Given the description of an element on the screen output the (x, y) to click on. 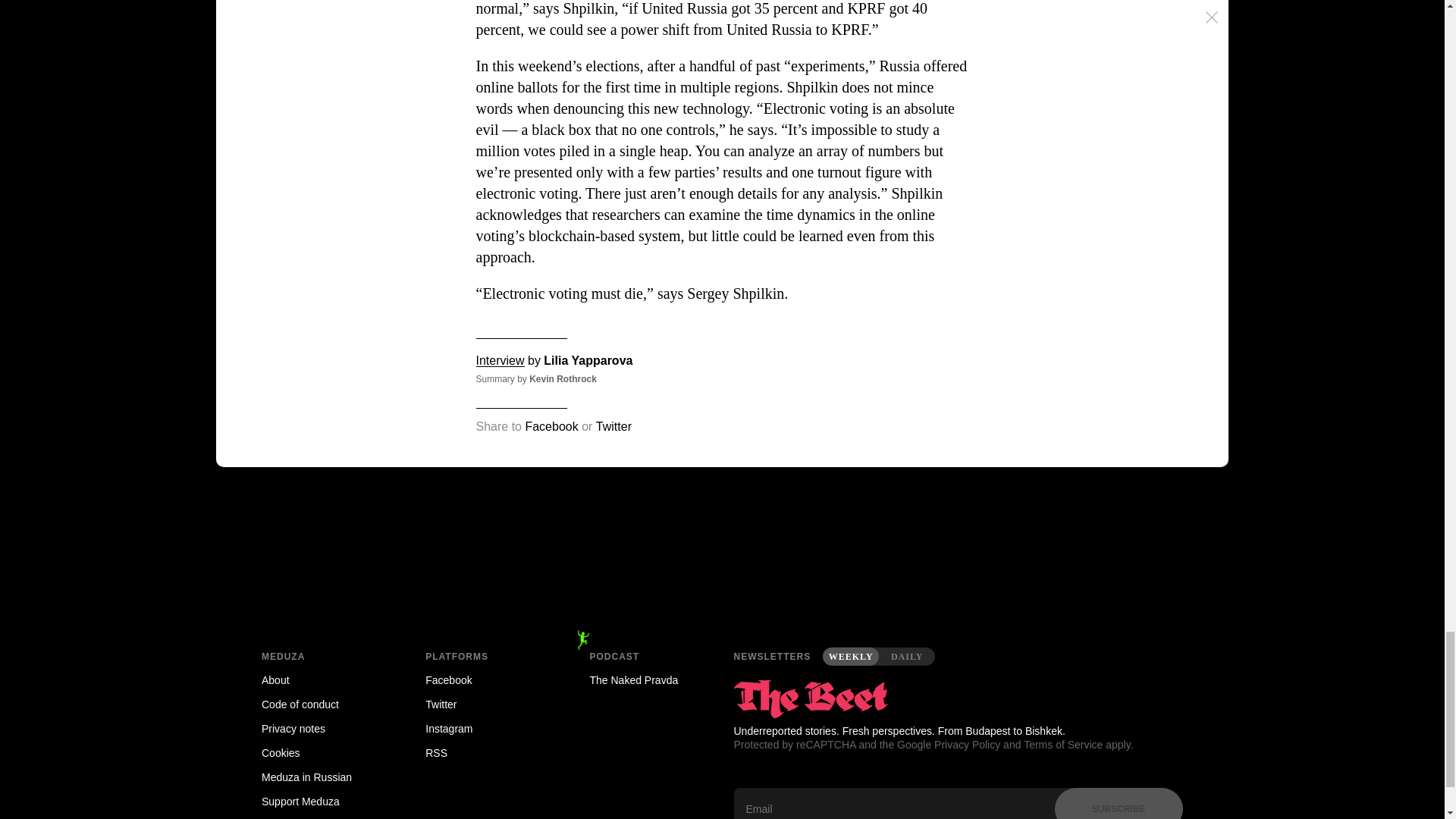
Support Meduza (322, 801)
Cookies (322, 752)
Twitter (486, 704)
RSS (486, 752)
Privacy Policy (967, 744)
About (322, 680)
Meduza in Russian (322, 776)
Twitter (613, 426)
SUBSCRIBE (1118, 803)
Facebook (486, 680)
Code of conduct (322, 704)
Privacy notes (322, 728)
Facebook (551, 426)
Instagram (486, 728)
Interview (500, 359)
